Given the description of an element on the screen output the (x, y) to click on. 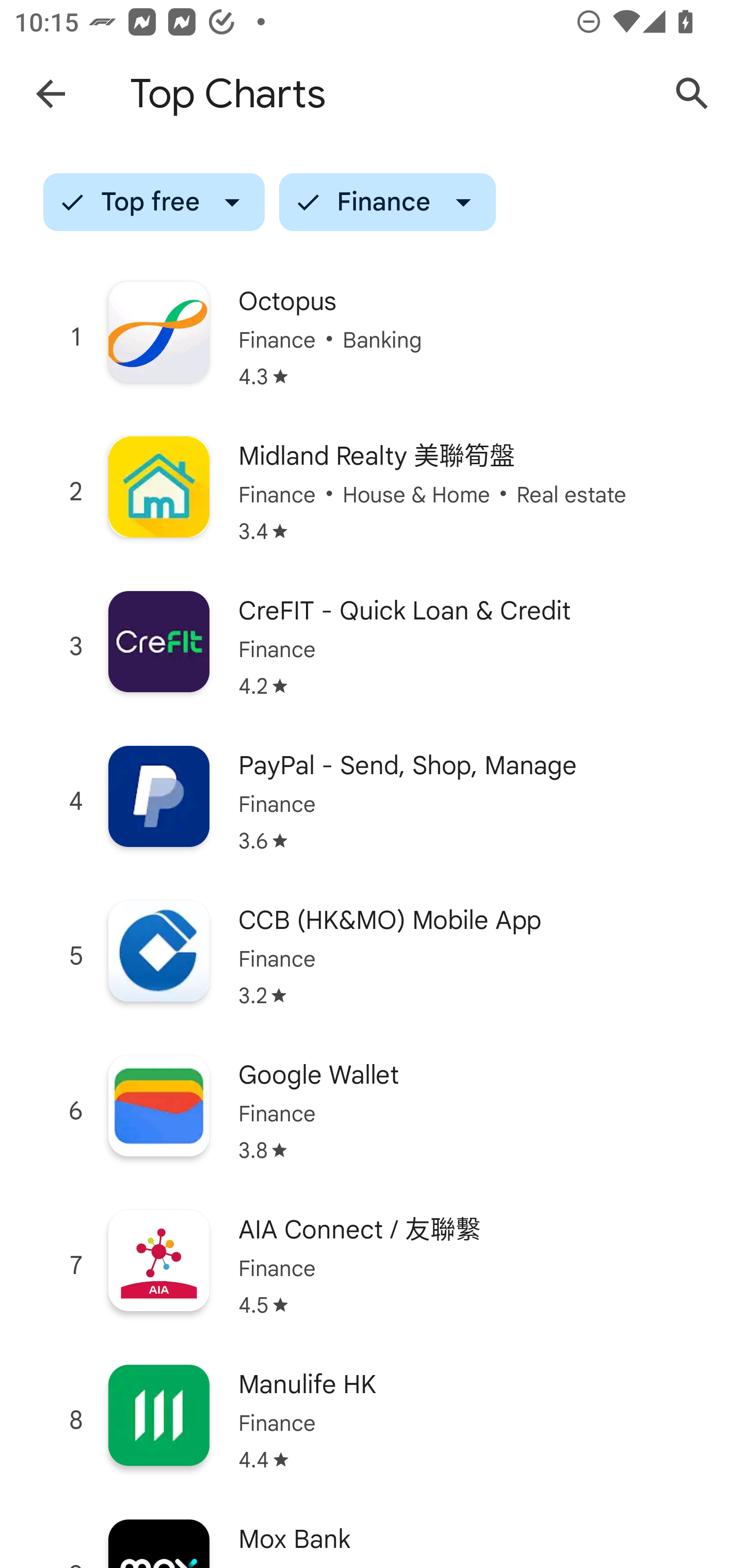
Navigate up (50, 93)
Search Google Play (692, 93)
1 Octopus
Finance
Banking
Star rating: 4.3
 (371, 336)
5 CCB (HK&MO) Mobile App
Finance
Star rating: 3.2
 (371, 956)
6 Google Wallet
Finance
Star rating: 3.8
 (371, 1110)
7 AIA Connect / 友聯繫
Finance
Star rating: 4.5
 (371, 1265)
8 Manulife HK
Finance
Star rating: 4.4
 (371, 1420)
